Given the description of an element on the screen output the (x, y) to click on. 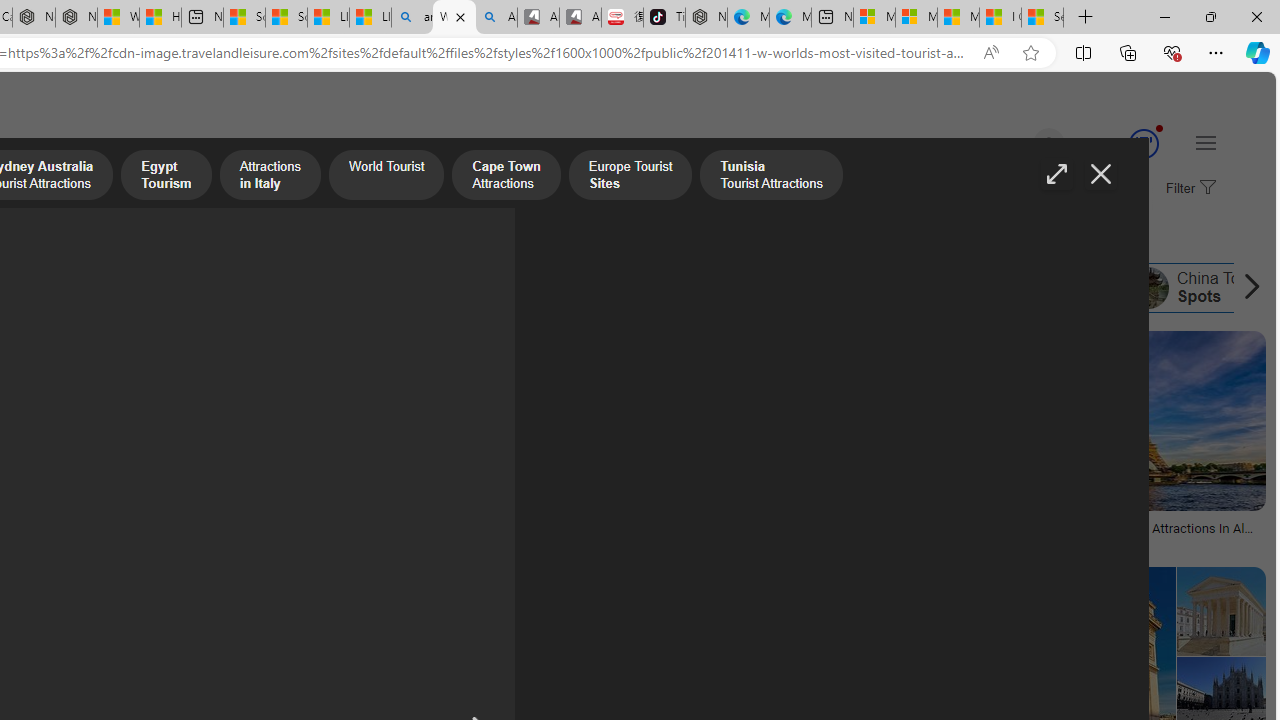
Image result for World tourist attraction (1129, 421)
Class: item col (1003, 287)
amazon - Search (411, 17)
I Gained 20 Pounds of Muscle in 30 Days! | Watch (1000, 17)
Class: outer-circle-animation (1143, 143)
France Best Places (1003, 287)
Cape Town Attractions (148, 287)
Nordace - Best Sellers (706, 17)
CBS News (769, 541)
